Given the description of an element on the screen output the (x, y) to click on. 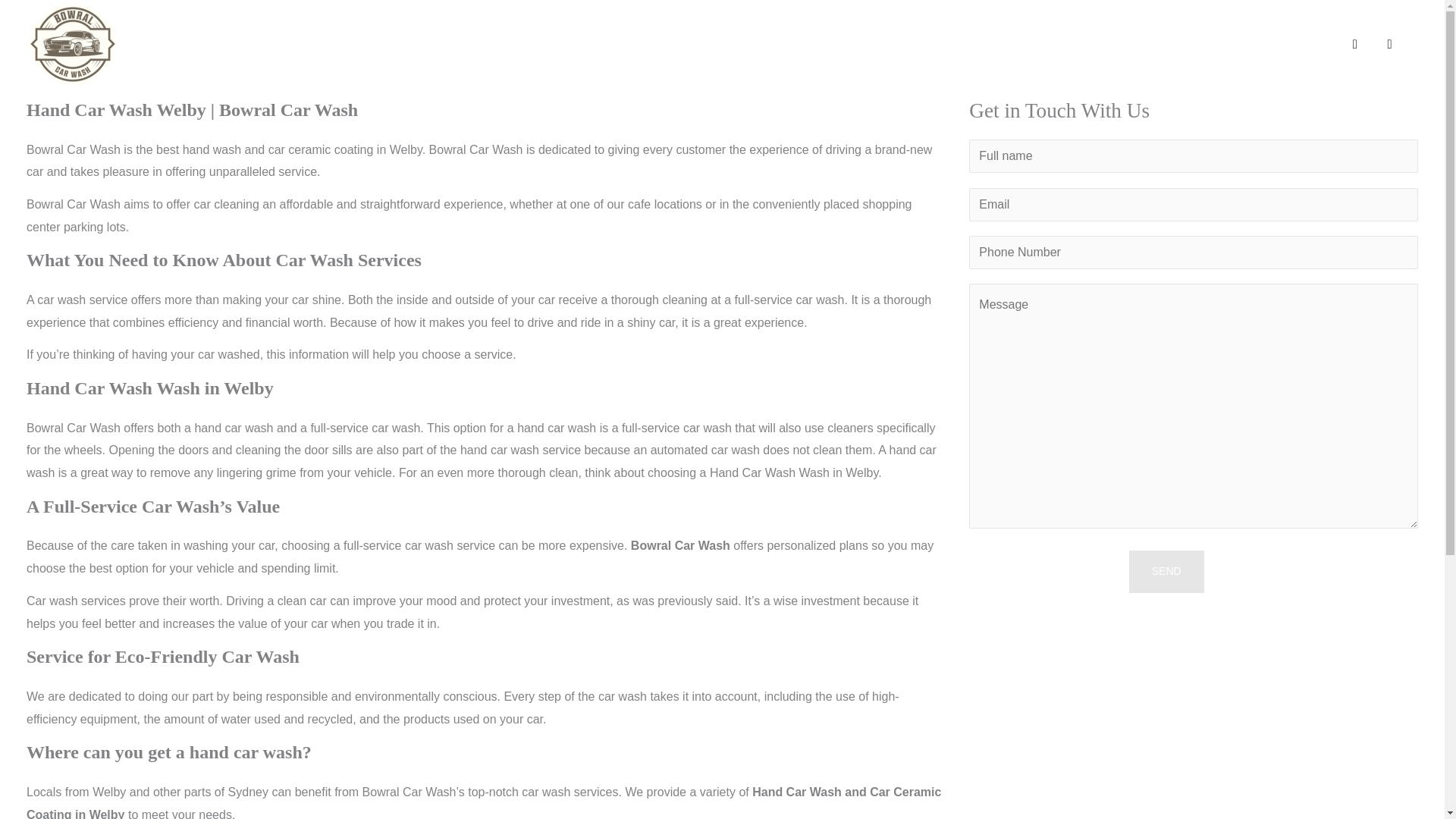
Send (1166, 571)
Home (609, 44)
Wedding Car Hire (903, 44)
About Us (685, 44)
Hand Car Wash Location (1129, 44)
Contact Us (1277, 44)
Packages (781, 44)
Blog (1001, 44)
